Given the description of an element on the screen output the (x, y) to click on. 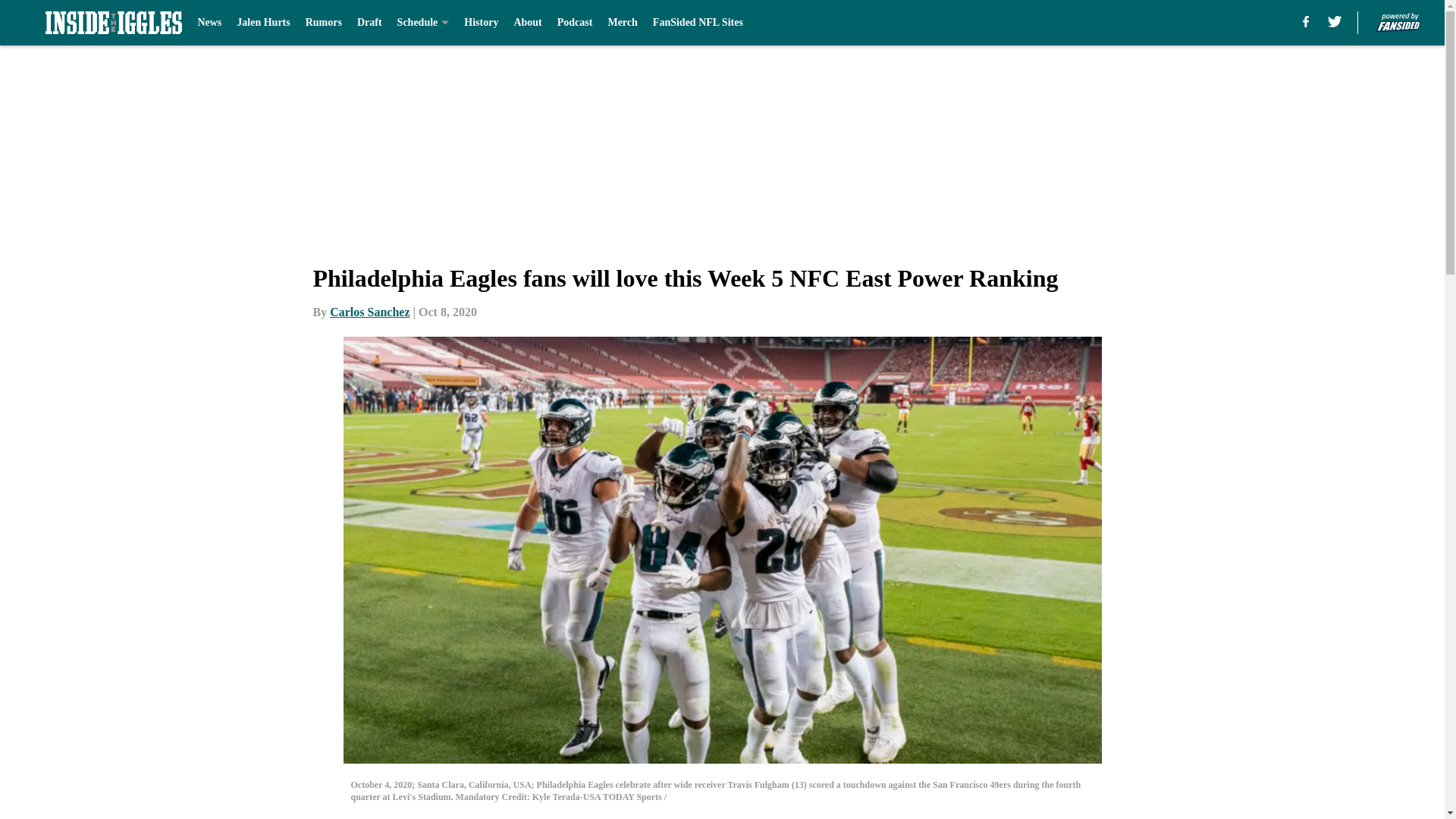
Jalen Hurts (262, 22)
History (480, 22)
Rumors (323, 22)
Podcast (574, 22)
FanSided NFL Sites (697, 22)
Draft (368, 22)
About (527, 22)
News (208, 22)
Carlos Sanchez (369, 311)
Merch (622, 22)
